Given the description of an element on the screen output the (x, y) to click on. 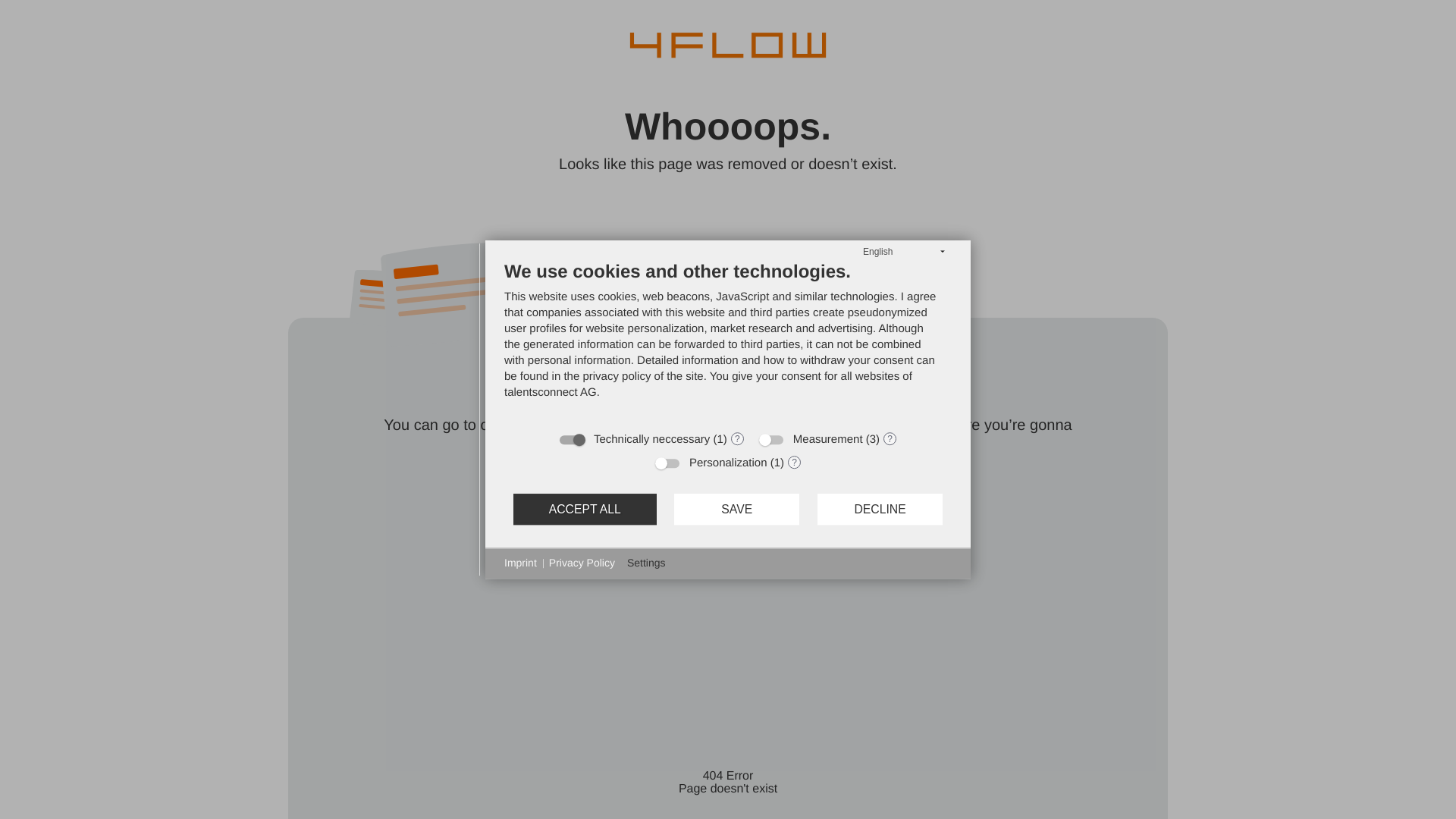
4flow EN (727, 44)
Discover more (727, 378)
SAVE (736, 508)
Details (737, 438)
Imprint (520, 563)
? (737, 438)
Details (889, 438)
? (889, 438)
? (793, 461)
DECLINE (879, 508)
Settings (646, 563)
Privacy Policy (581, 563)
ACCEPT ALL (584, 508)
talentsconnect AG (549, 391)
